Given the description of an element on the screen output the (x, y) to click on. 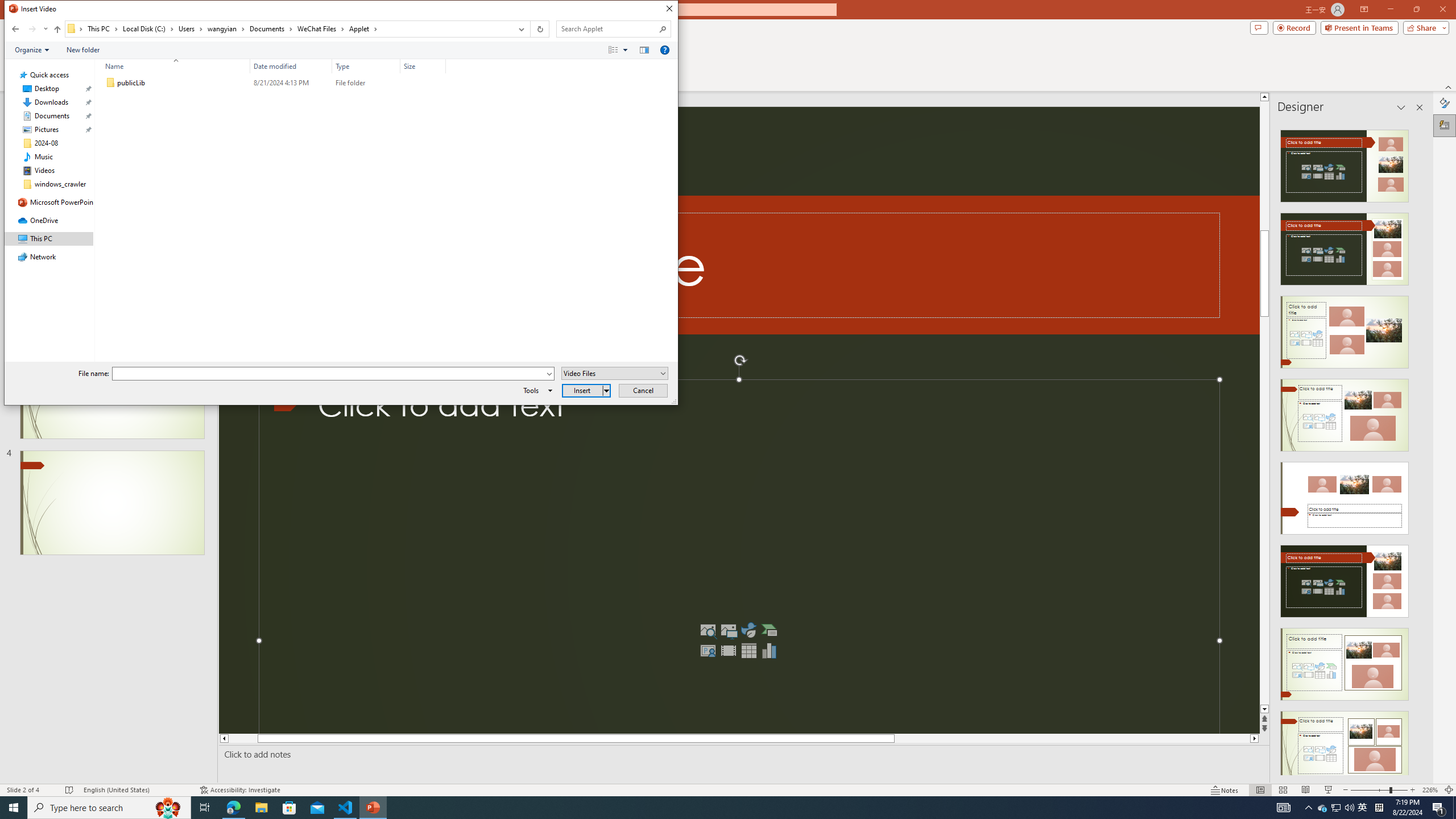
Zoom 226% (1430, 790)
Preview pane (644, 49)
Insert a SmartArt Graphic (769, 629)
Insert Chart (769, 650)
